Given the description of an element on the screen output the (x, y) to click on. 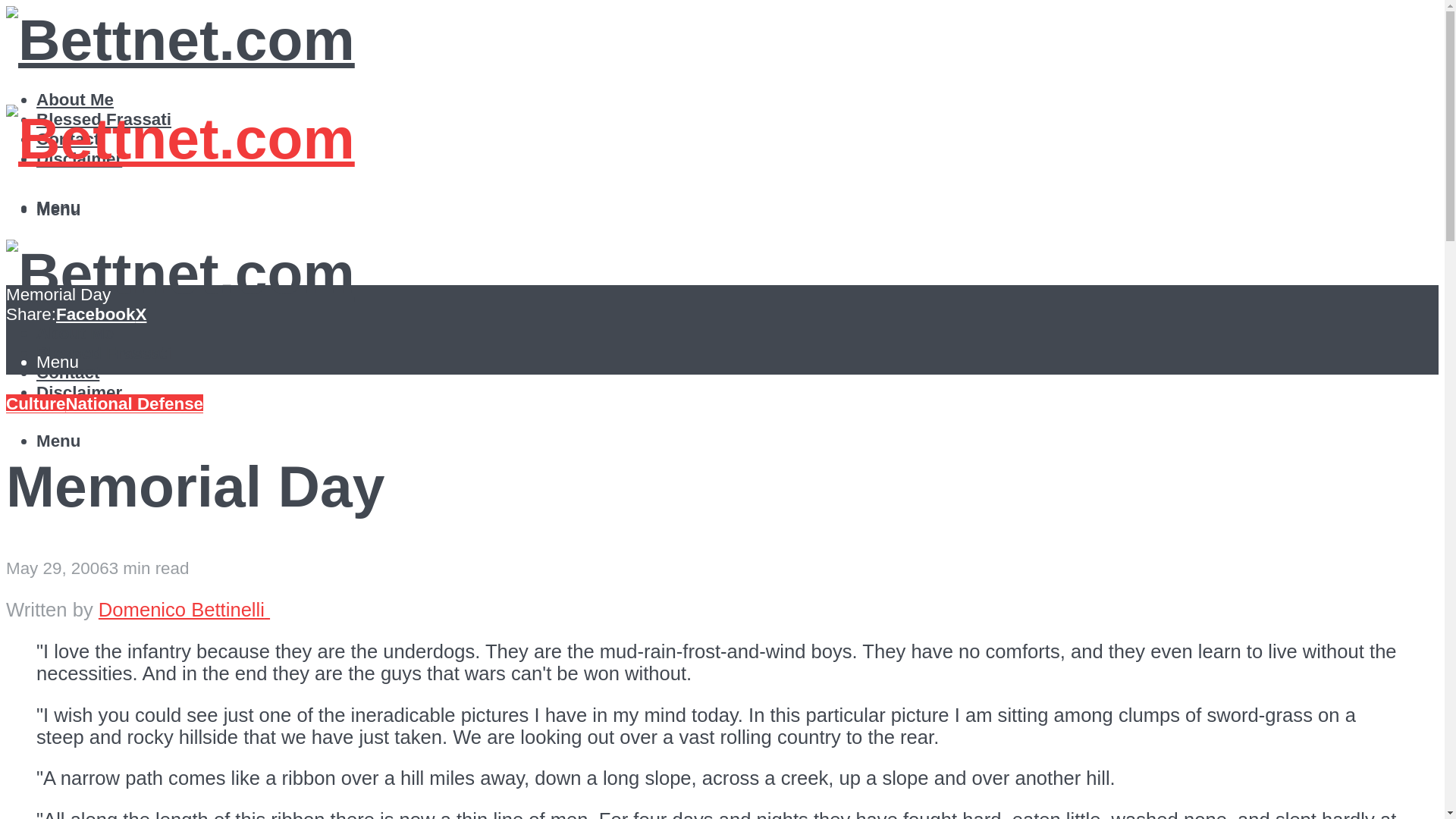
Contact (67, 372)
National Defense (134, 403)
Menu (58, 209)
Menu (57, 361)
Contact (67, 138)
Facebook (95, 313)
Blessed Frassati (103, 118)
About Me (74, 99)
Domenico Bettinelli (203, 608)
Blessed Frassati (103, 352)
